Given the description of an element on the screen output the (x, y) to click on. 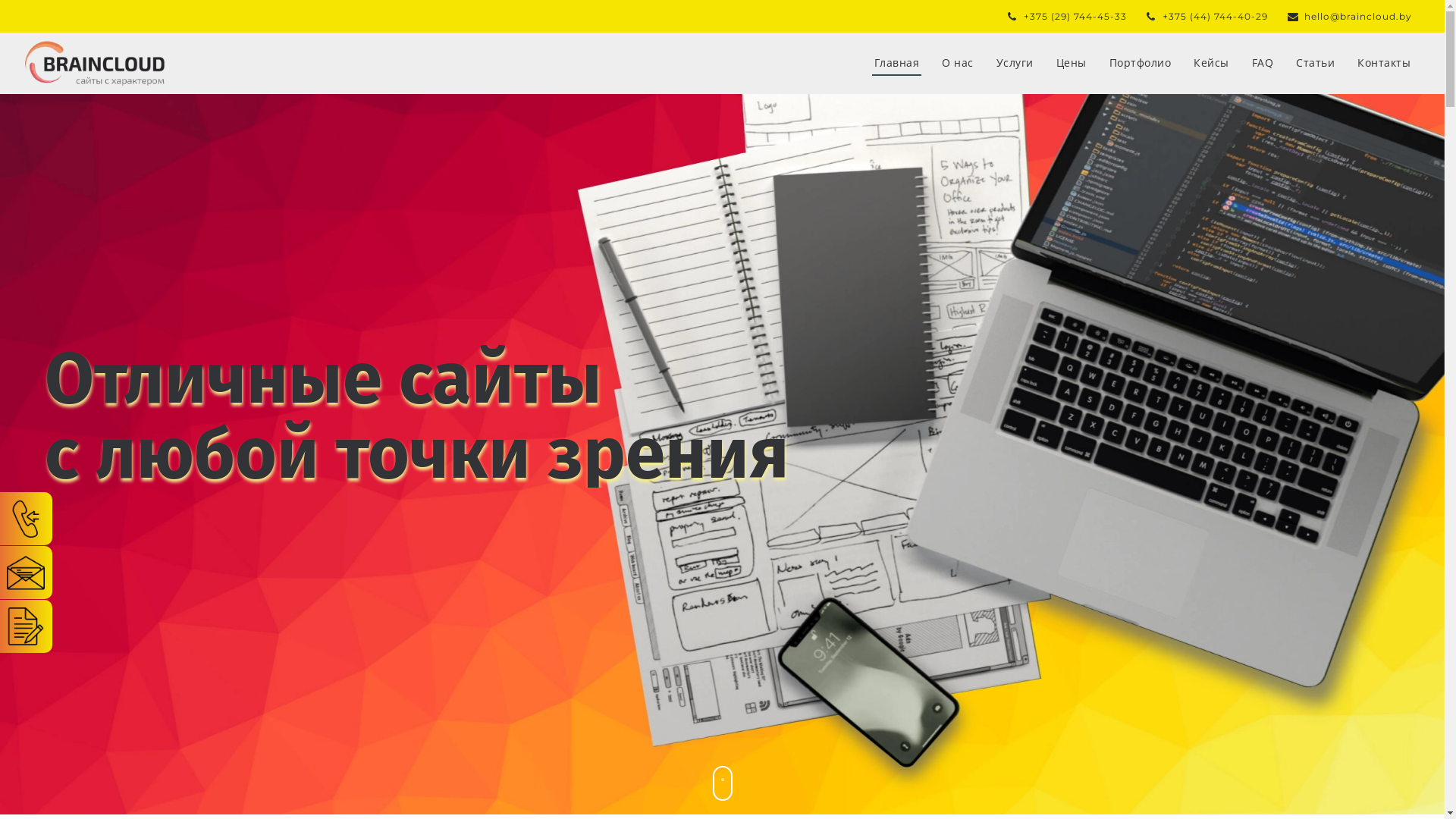
+375 (44) 744-40-29 Element type: text (1206, 16)
hello@braincloud.by Element type: text (1349, 16)
+375 (29) 744-45-33 Element type: text (1066, 16)
FAQ Element type: text (1262, 53)
